Given the description of an element on the screen output the (x, y) to click on. 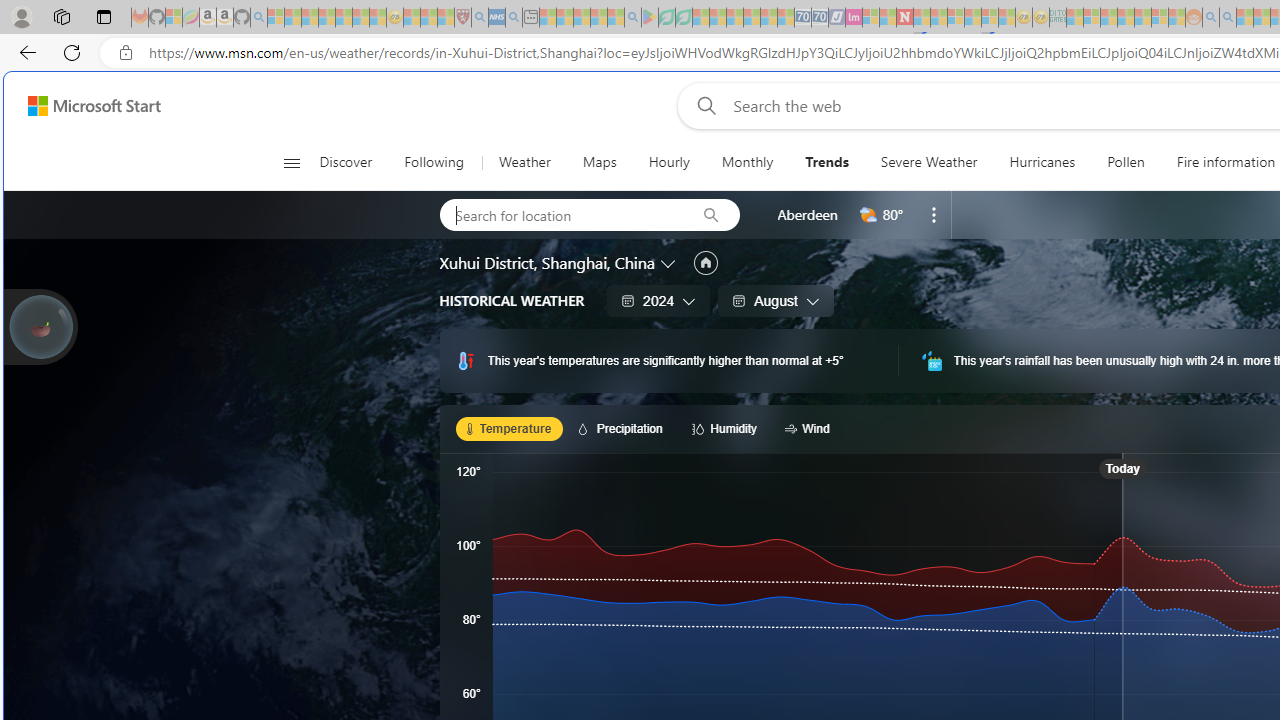
Set as primary location (705, 263)
Hurricanes (1042, 162)
Join us in planting real trees to help our planet! (40, 325)
Temperature (509, 428)
Severe Weather (928, 162)
Monthly (747, 162)
Join us in planting real trees to help our planet! (40, 327)
